Given the description of an element on the screen output the (x, y) to click on. 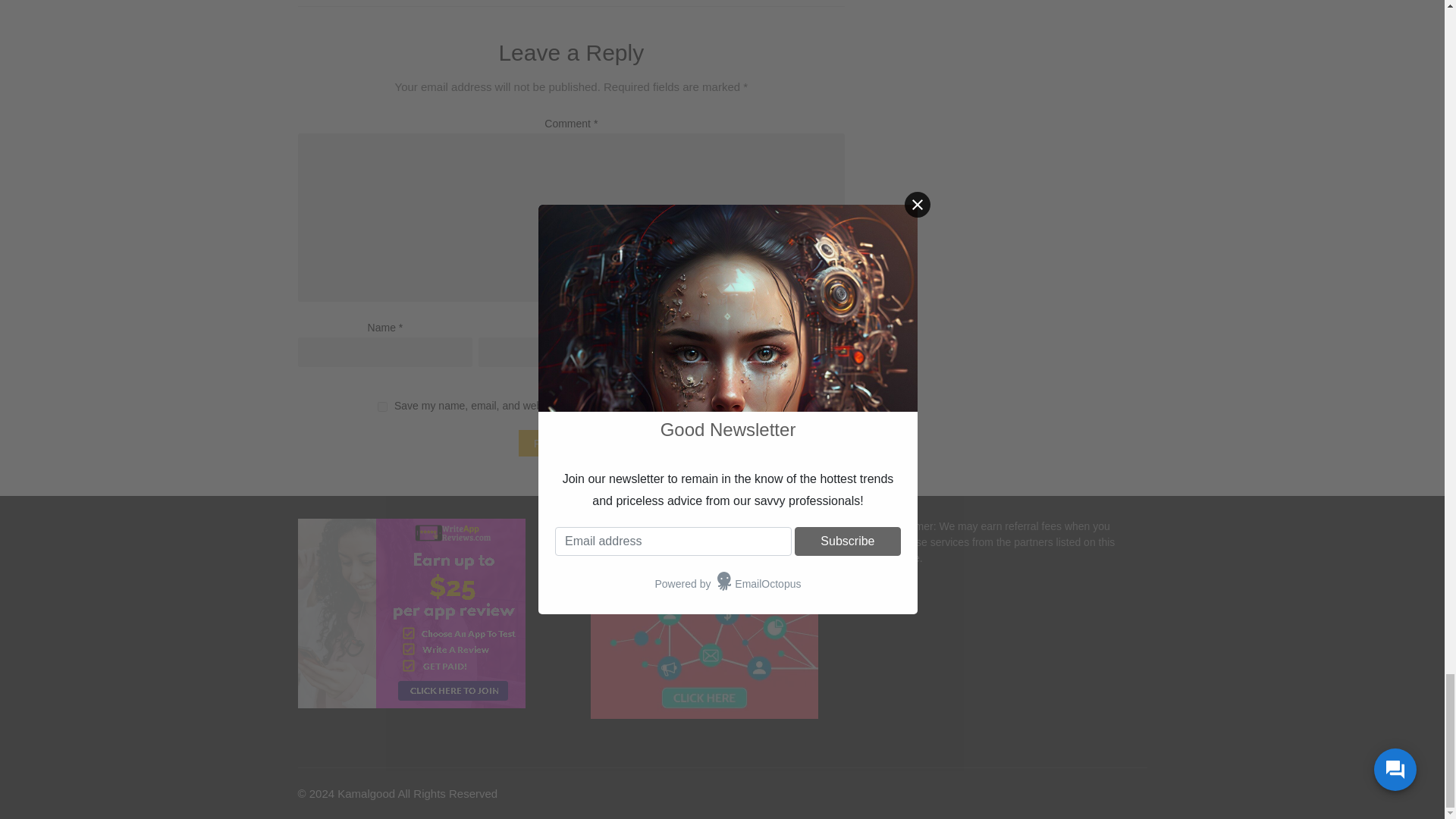
yes (382, 406)
Post Comment (571, 442)
Post Comment (571, 442)
